Given the description of an element on the screen output the (x, y) to click on. 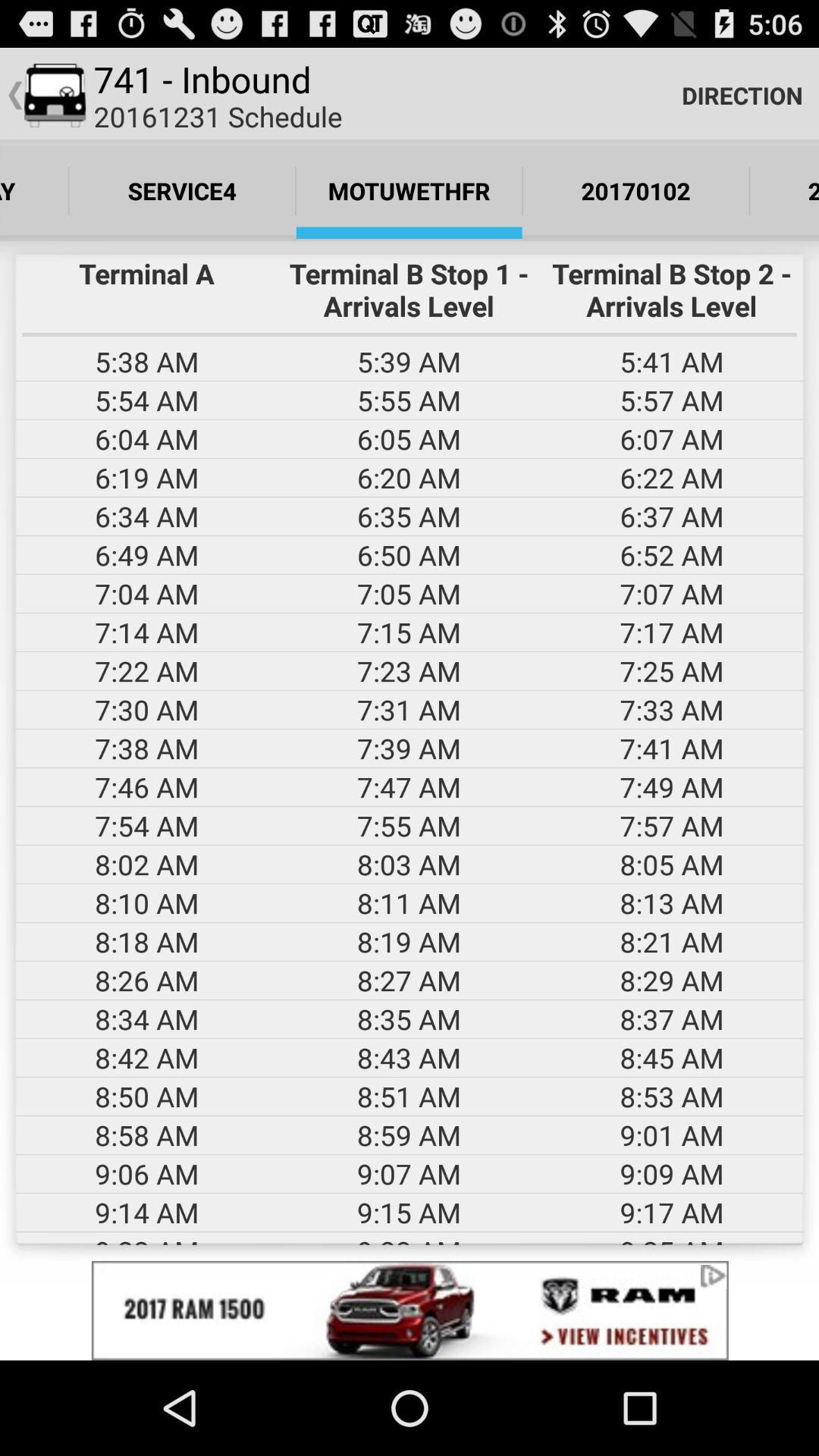
advertisement (409, 1310)
